Given the description of an element on the screen output the (x, y) to click on. 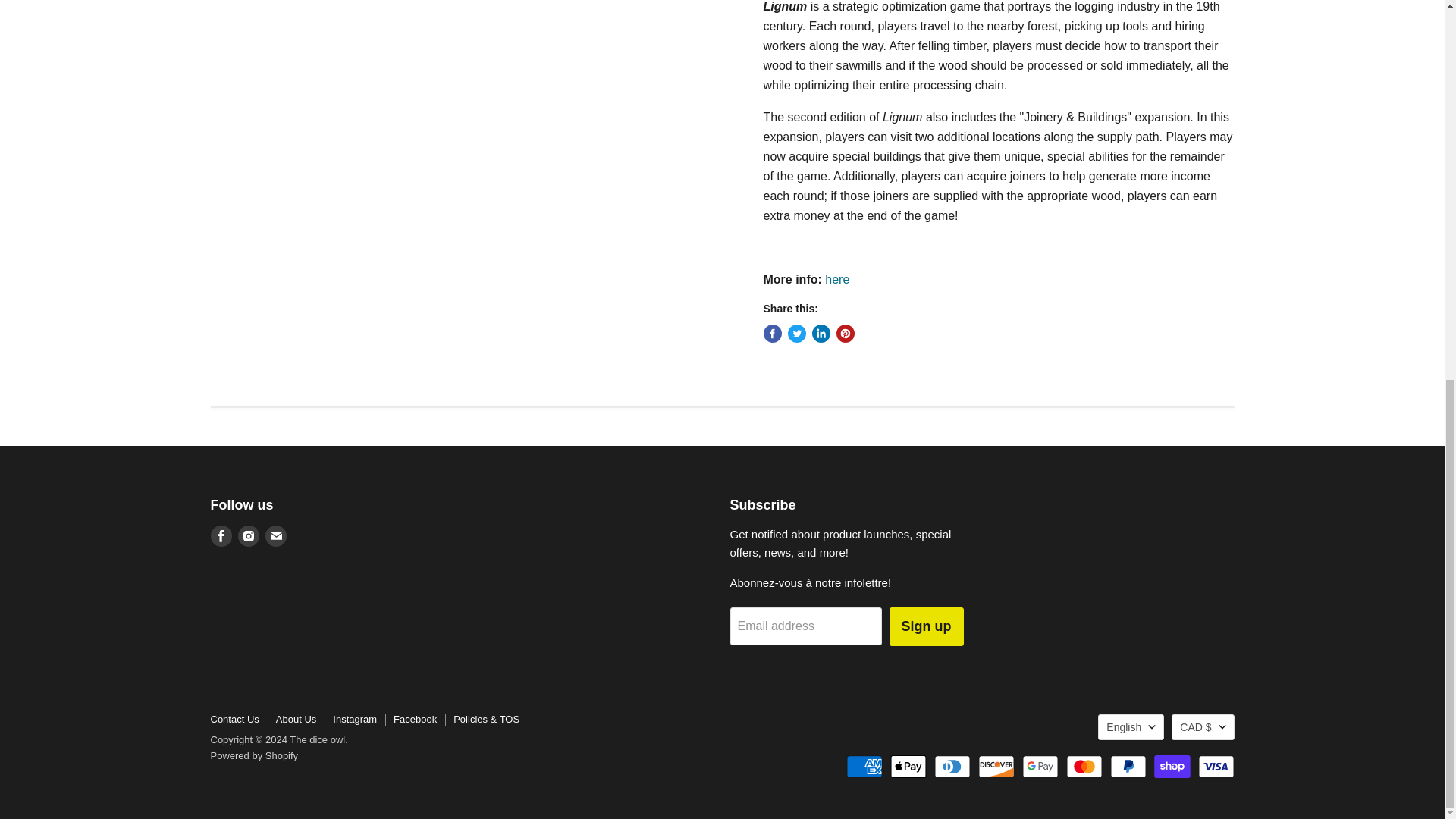
Apple Pay (907, 766)
Discover (996, 766)
lignum (838, 278)
Email (275, 536)
Facebook (221, 536)
American Express (863, 766)
Google Pay (1040, 766)
Instagram (248, 536)
Diners Club (952, 766)
